Given the description of an element on the screen output the (x, y) to click on. 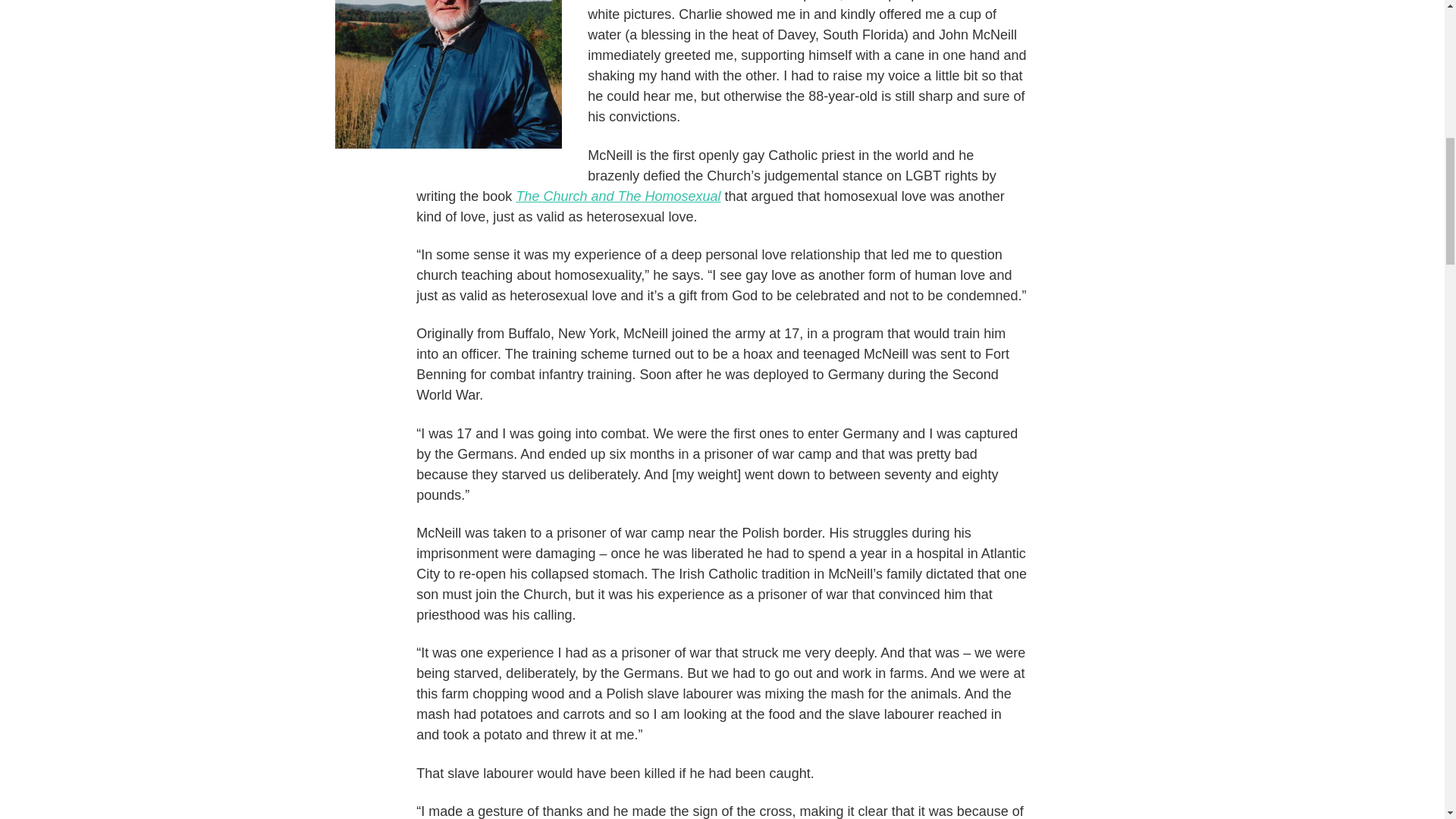
The Church and The Homosexual (617, 196)
